Given the description of an element on the screen output the (x, y) to click on. 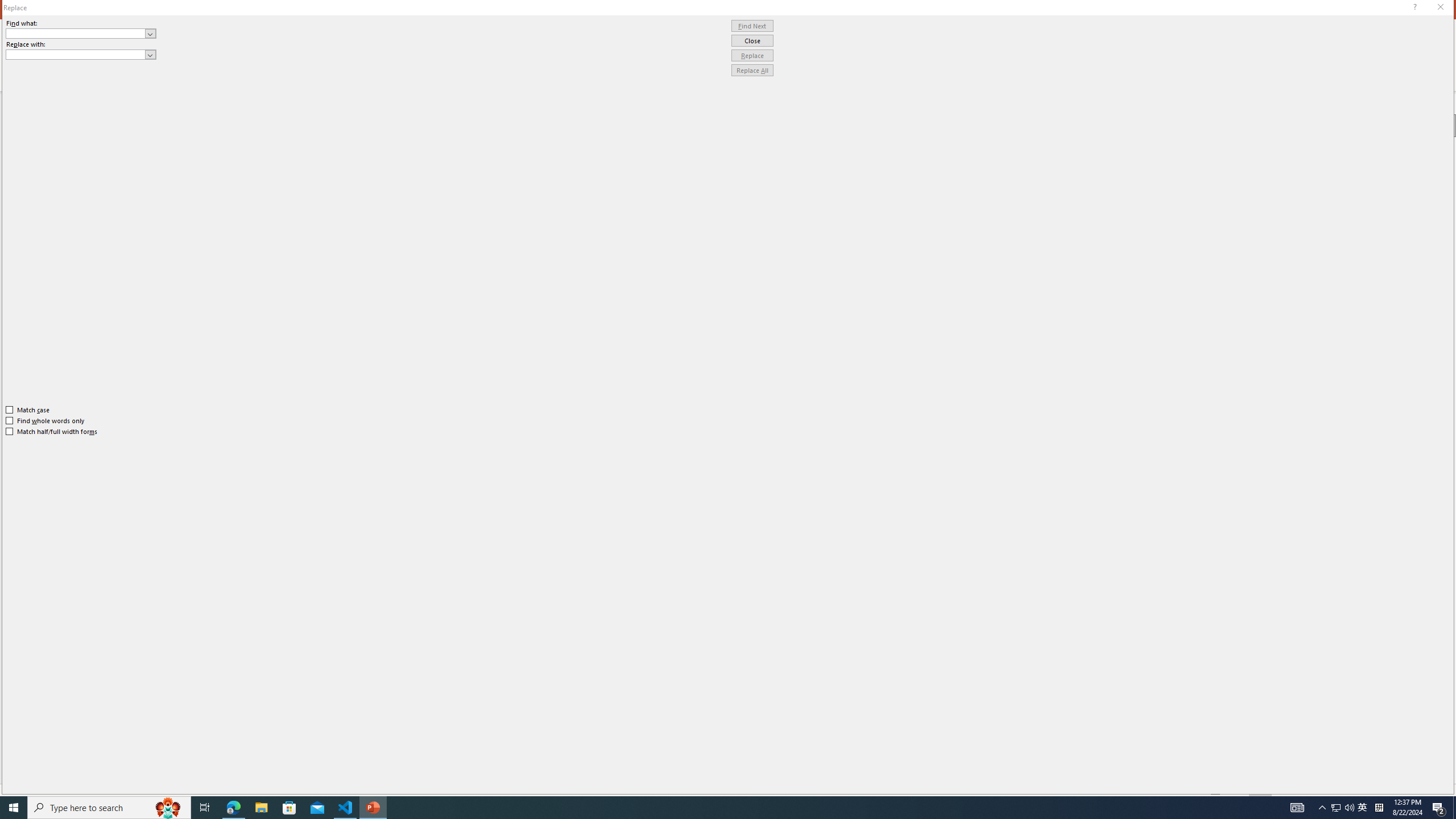
Solid fill (1309, 170)
Decorative Locked (739, 579)
